Given the description of an element on the screen output the (x, y) to click on. 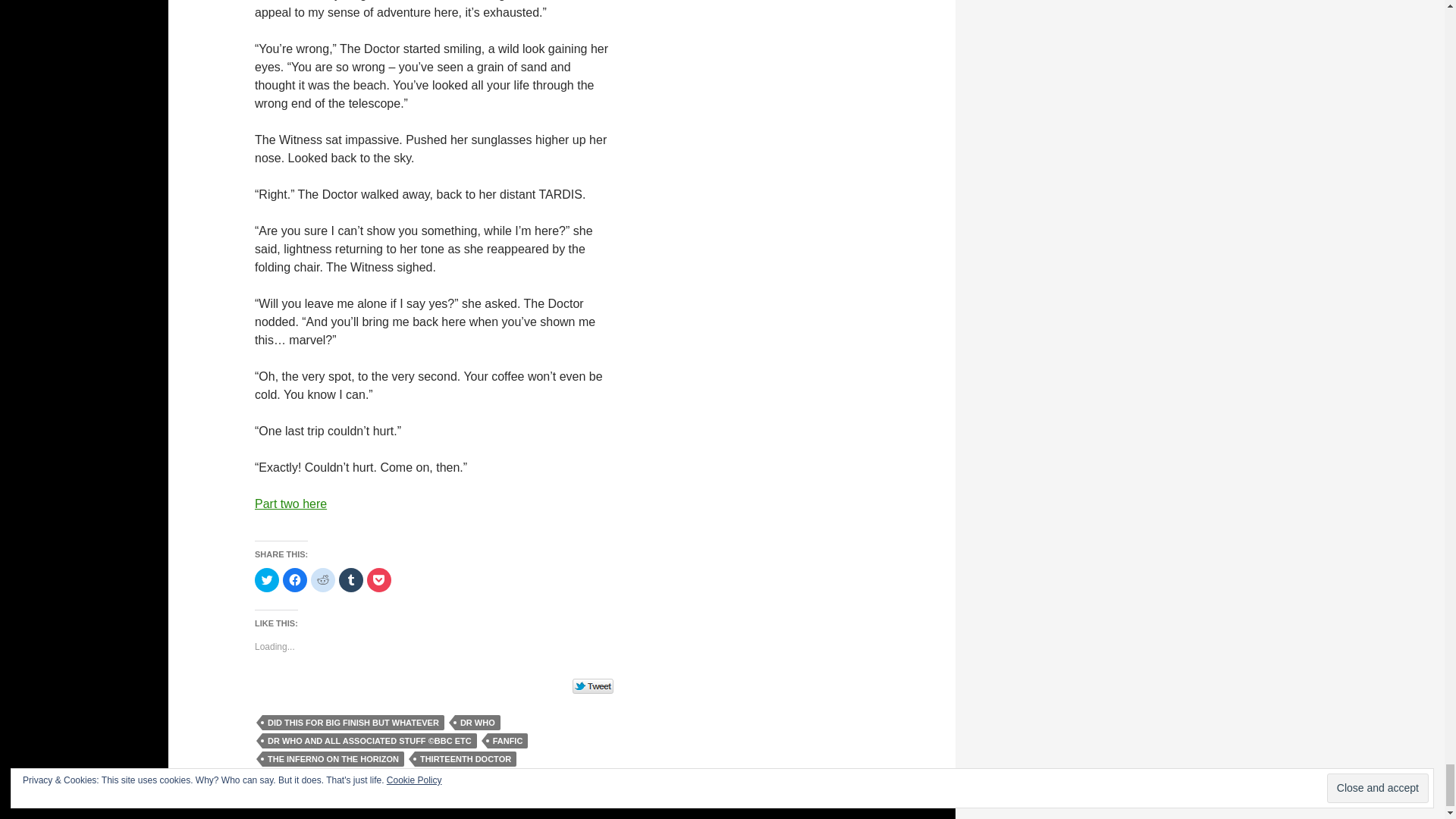
Click to share on Tumblr (350, 580)
Click to share on Reddit (322, 580)
Click to share on Facebook (294, 580)
Click to share on Twitter (266, 580)
Click to share on Pocket (378, 580)
